Given the description of an element on the screen output the (x, y) to click on. 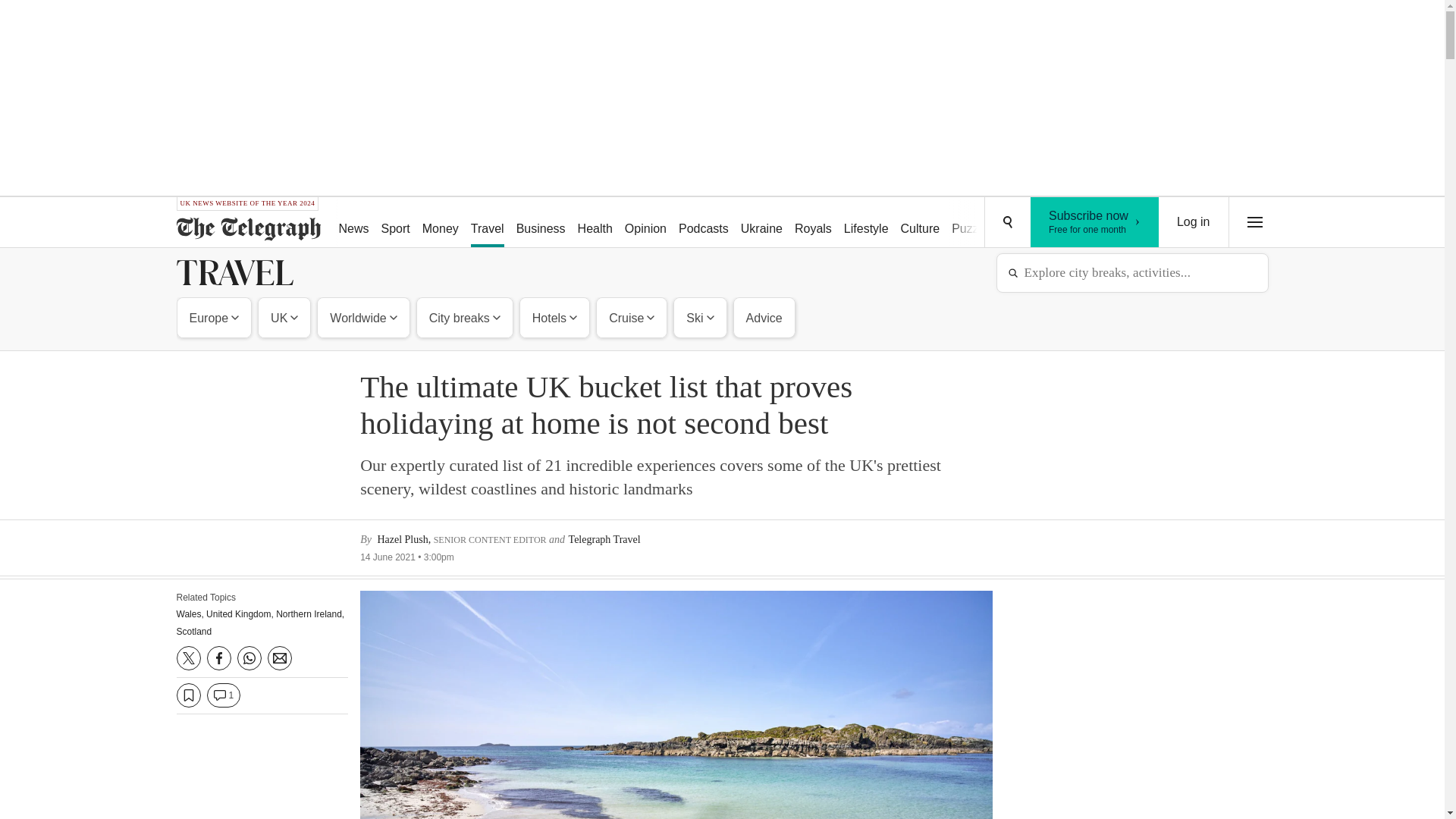
Health (595, 223)
Europe (214, 317)
Business (541, 223)
Puzzles (972, 223)
Opinion (645, 223)
Podcasts (703, 223)
Culture (920, 223)
Travel (487, 223)
Log in (1193, 222)
Royals (813, 223)
Money (440, 223)
UK (1094, 222)
Worldwide (284, 317)
Lifestyle (363, 317)
